Given the description of an element on the screen output the (x, y) to click on. 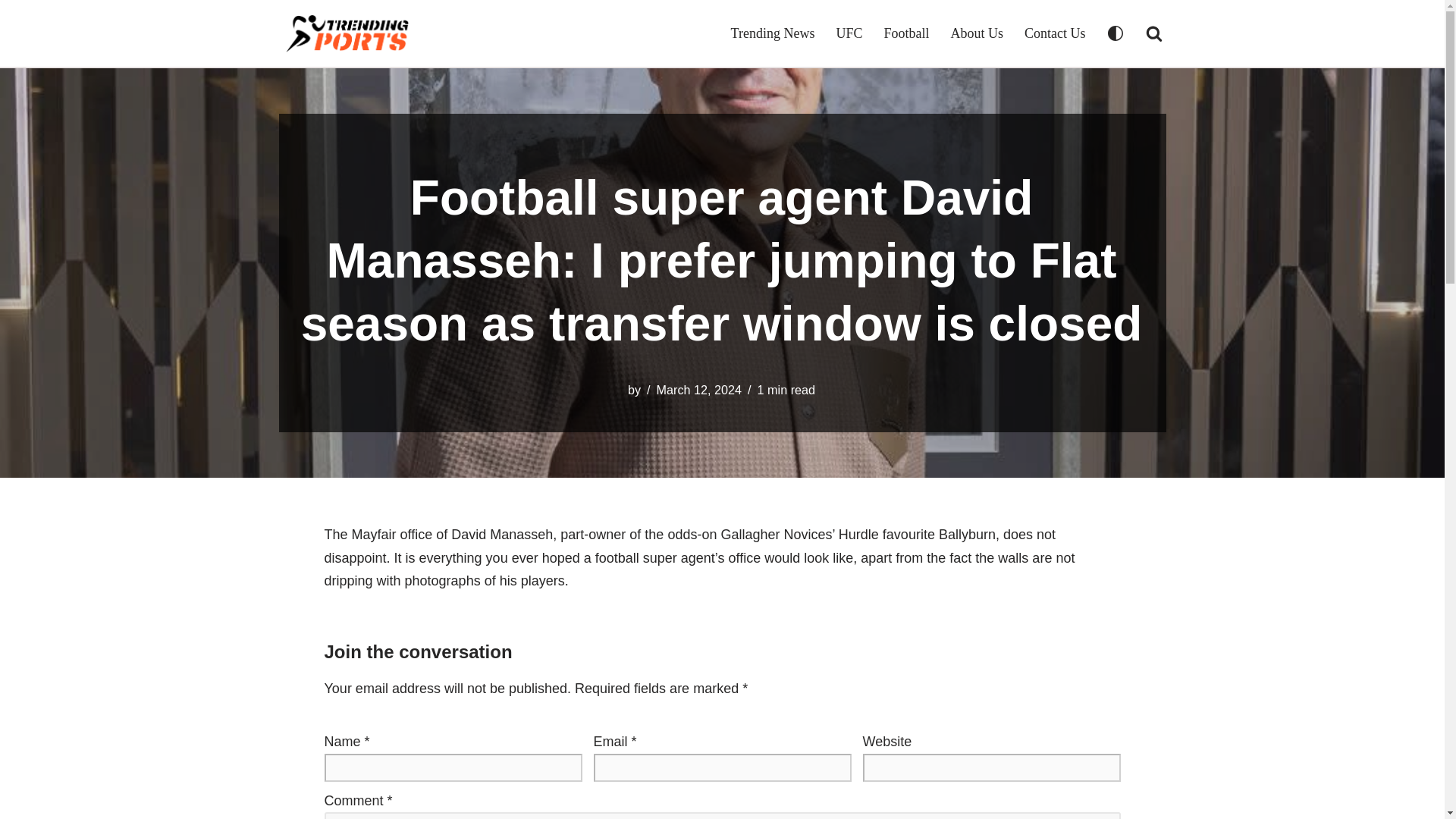
Contact Us (1055, 33)
Football (905, 33)
About Us (976, 33)
UFC (848, 33)
Skip to content (11, 31)
Trending News (772, 33)
